Given the description of an element on the screen output the (x, y) to click on. 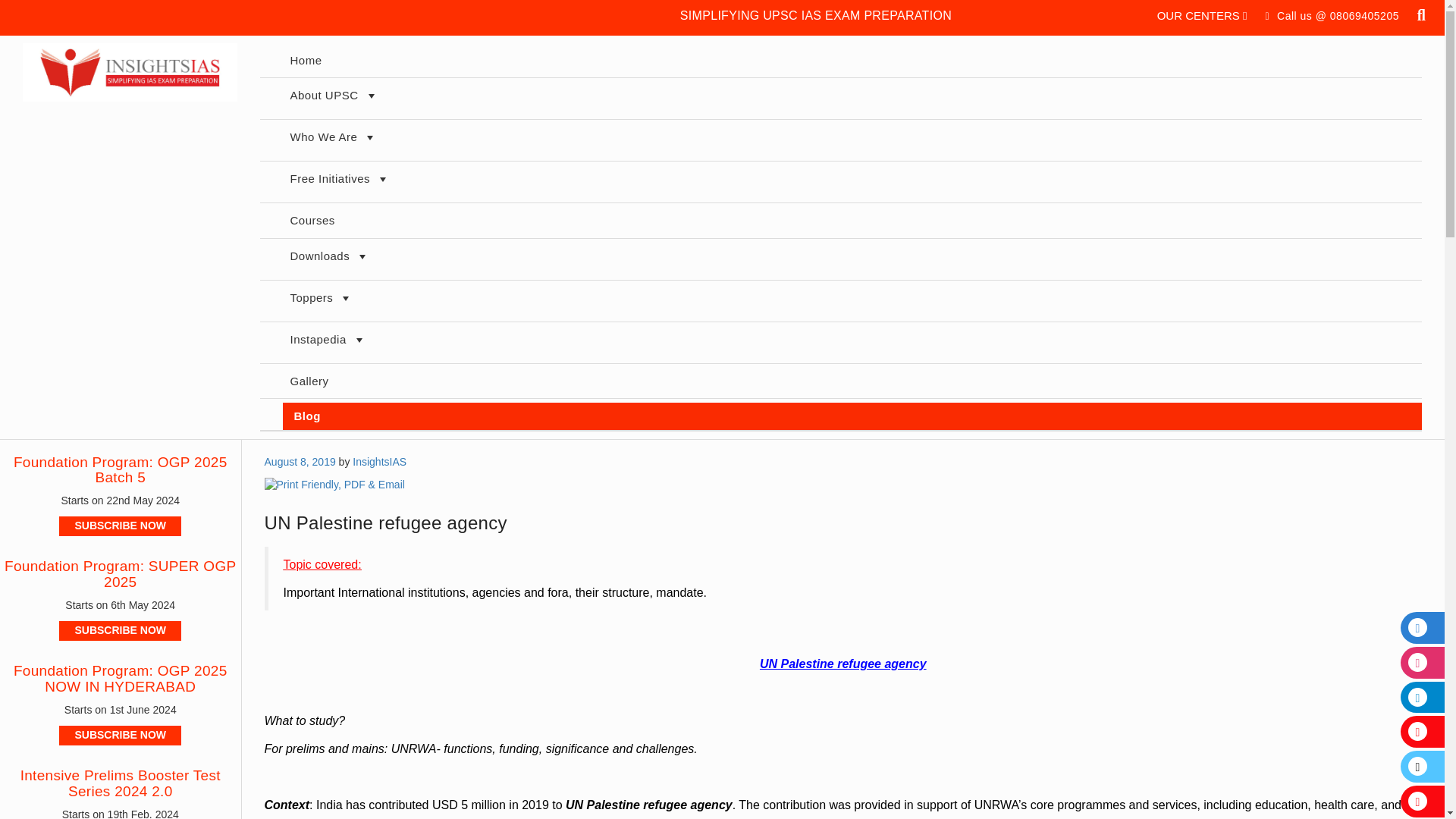
08069405205 (1364, 15)
Home (851, 60)
OUR CENTERS (1202, 15)
About UPSC (851, 97)
Who We Are (851, 139)
